Given the description of an element on the screen output the (x, y) to click on. 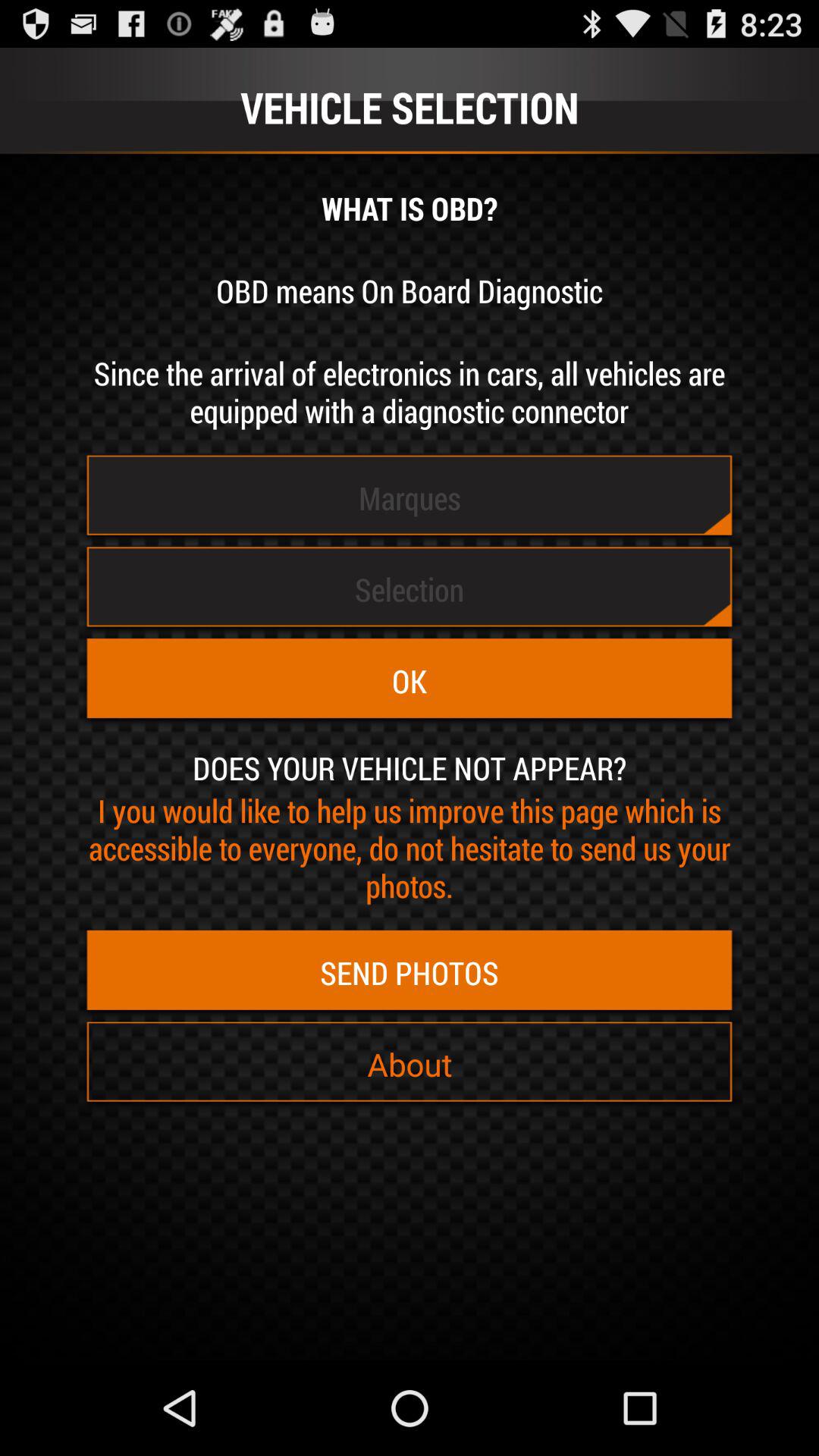
tap the icon above the does your vehicle item (409, 680)
